Given the description of an element on the screen output the (x, y) to click on. 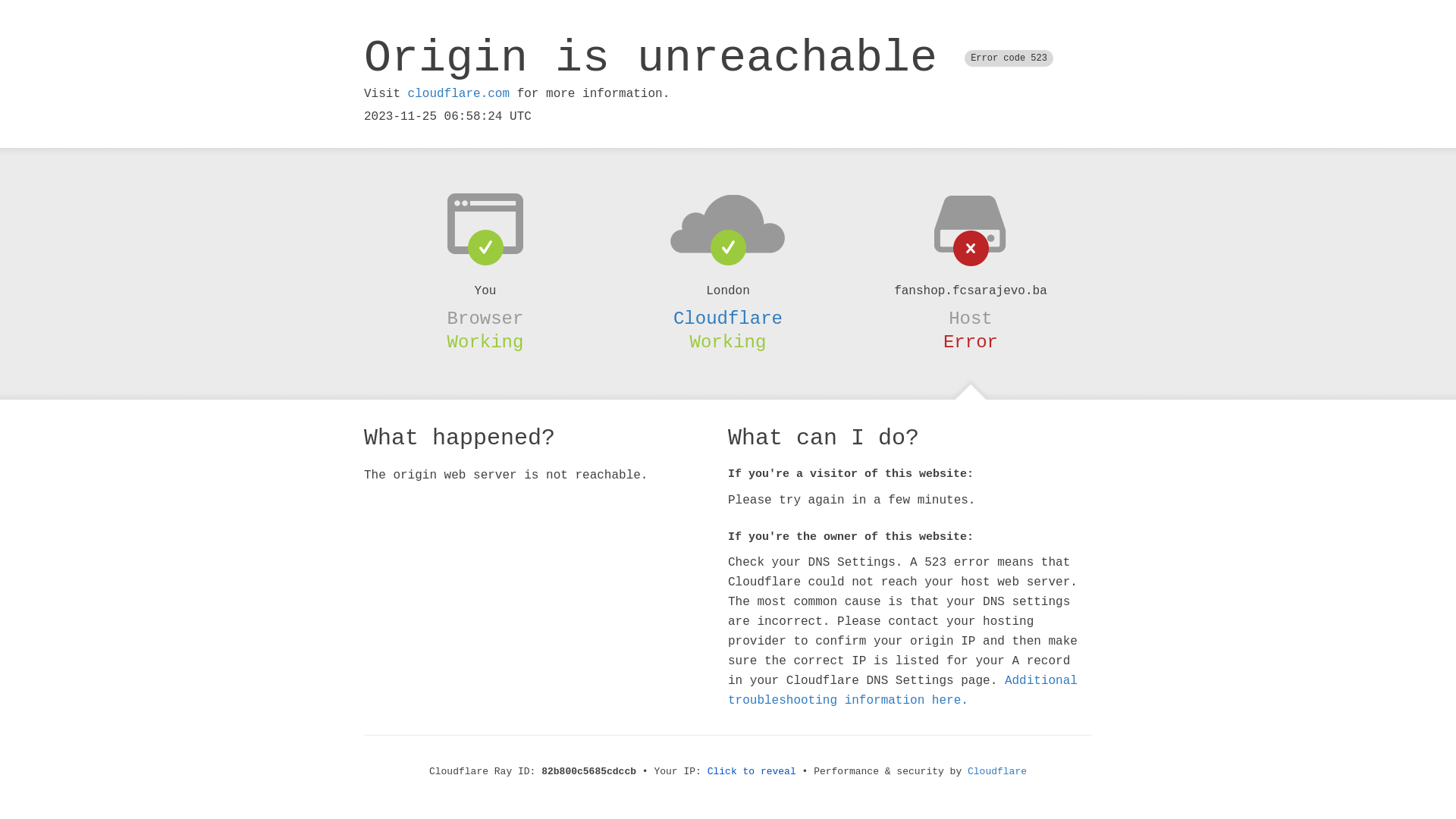
cloudflare.com Element type: text (458, 93)
Click to reveal Element type: text (751, 771)
Cloudflare Element type: text (727, 318)
Cloudflare Element type: text (996, 771)
Additional troubleshooting information here. Element type: text (902, 690)
